Given the description of an element on the screen output the (x, y) to click on. 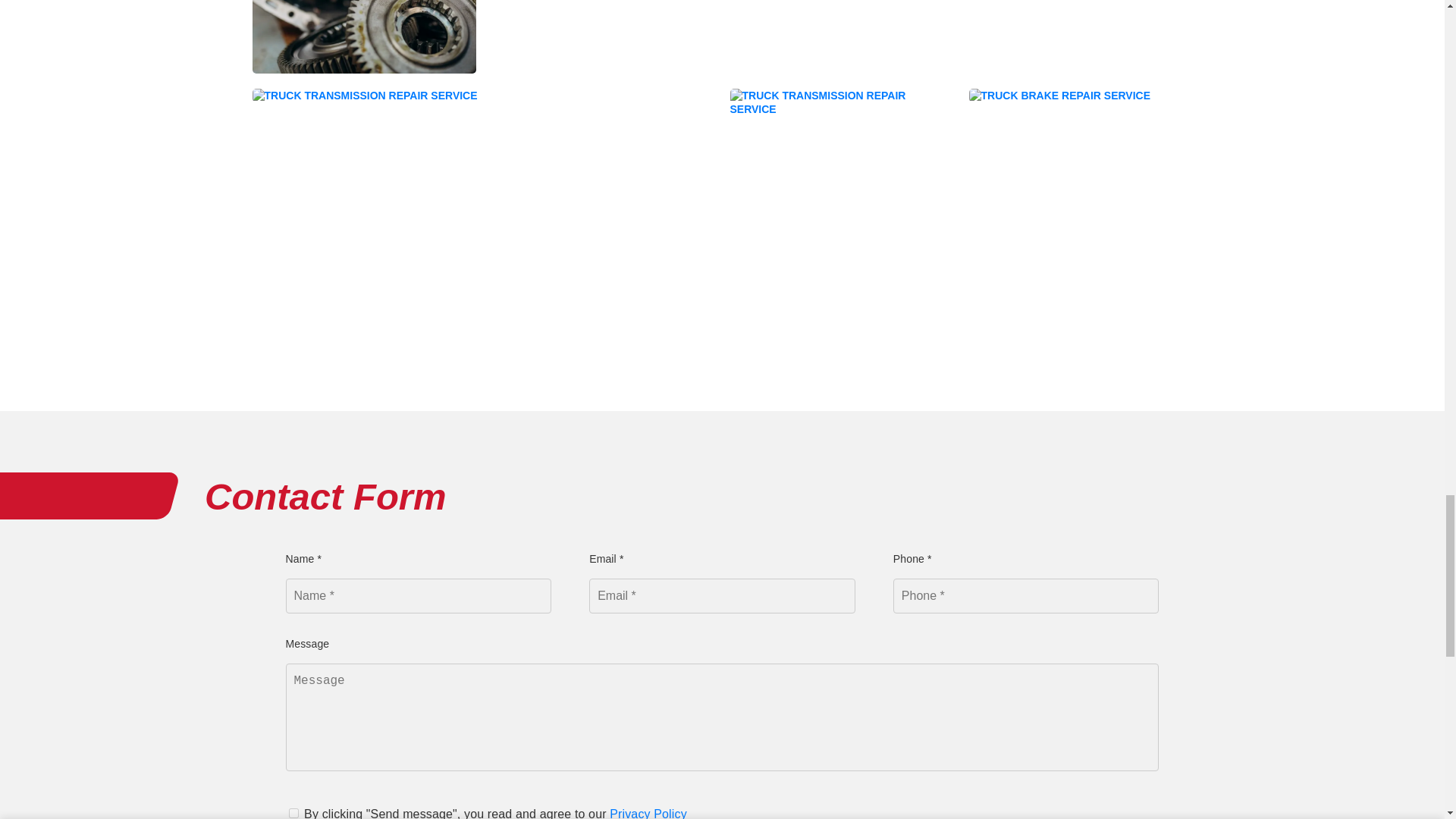
1 (293, 813)
